Given the description of an element on the screen output the (x, y) to click on. 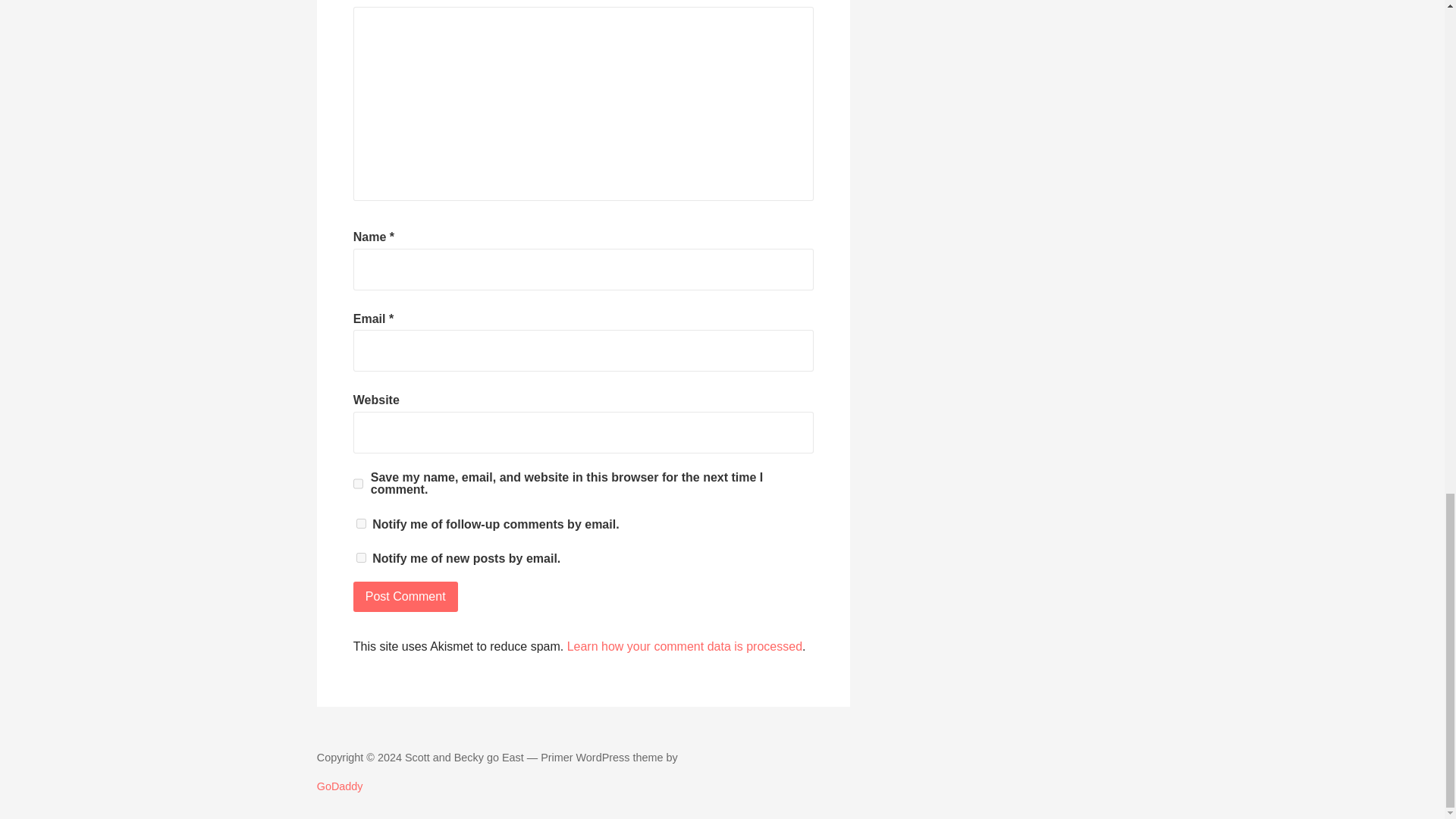
Learn how your comment data is processed (684, 645)
Post Comment (405, 596)
subscribe (361, 523)
GoDaddy (339, 786)
subscribe (361, 557)
Post Comment (405, 596)
